Given the description of an element on the screen output the (x, y) to click on. 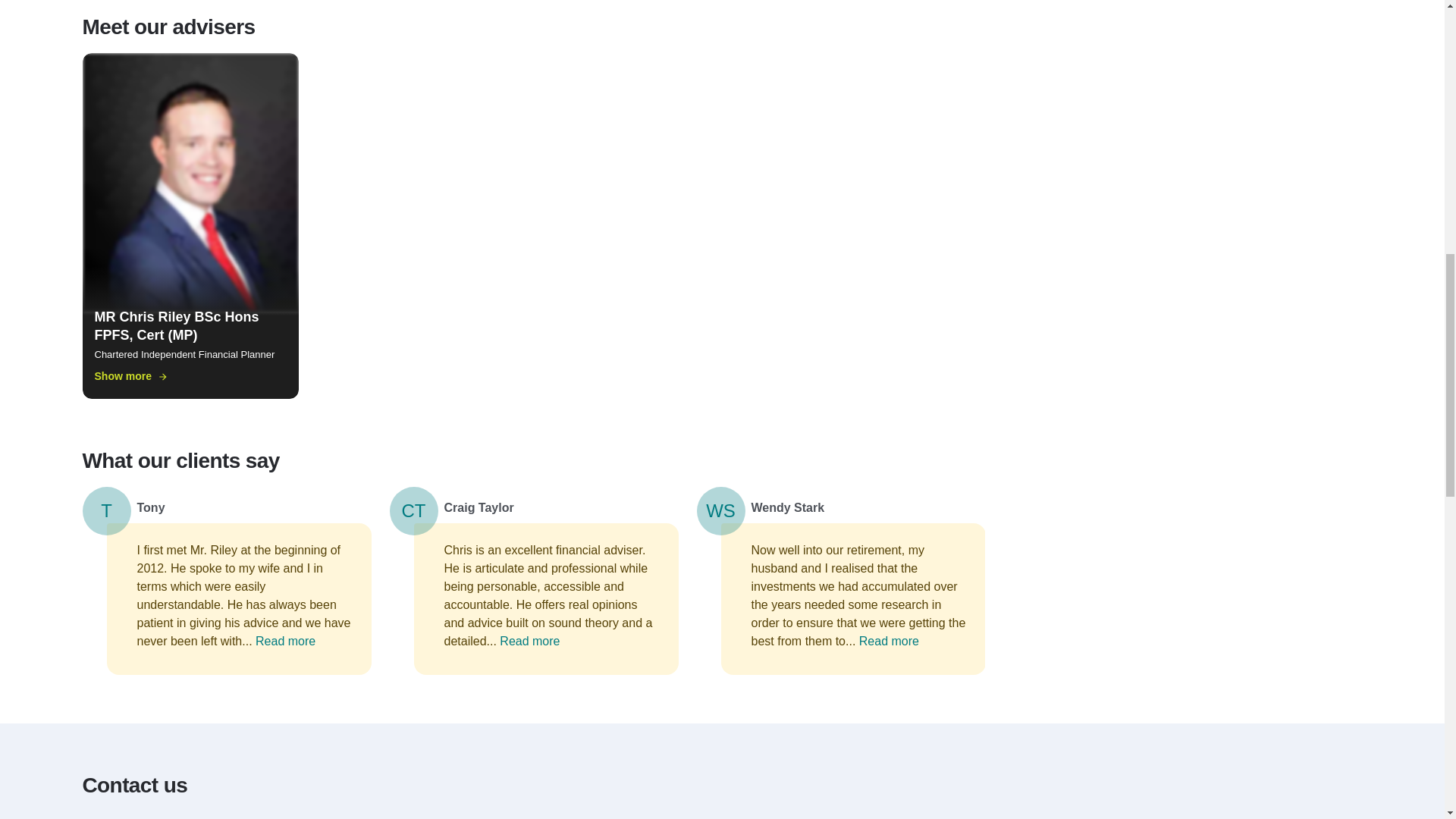
Show more (130, 376)
Read more (529, 641)
Read more (285, 641)
Read more (888, 641)
